Given the description of an element on the screen output the (x, y) to click on. 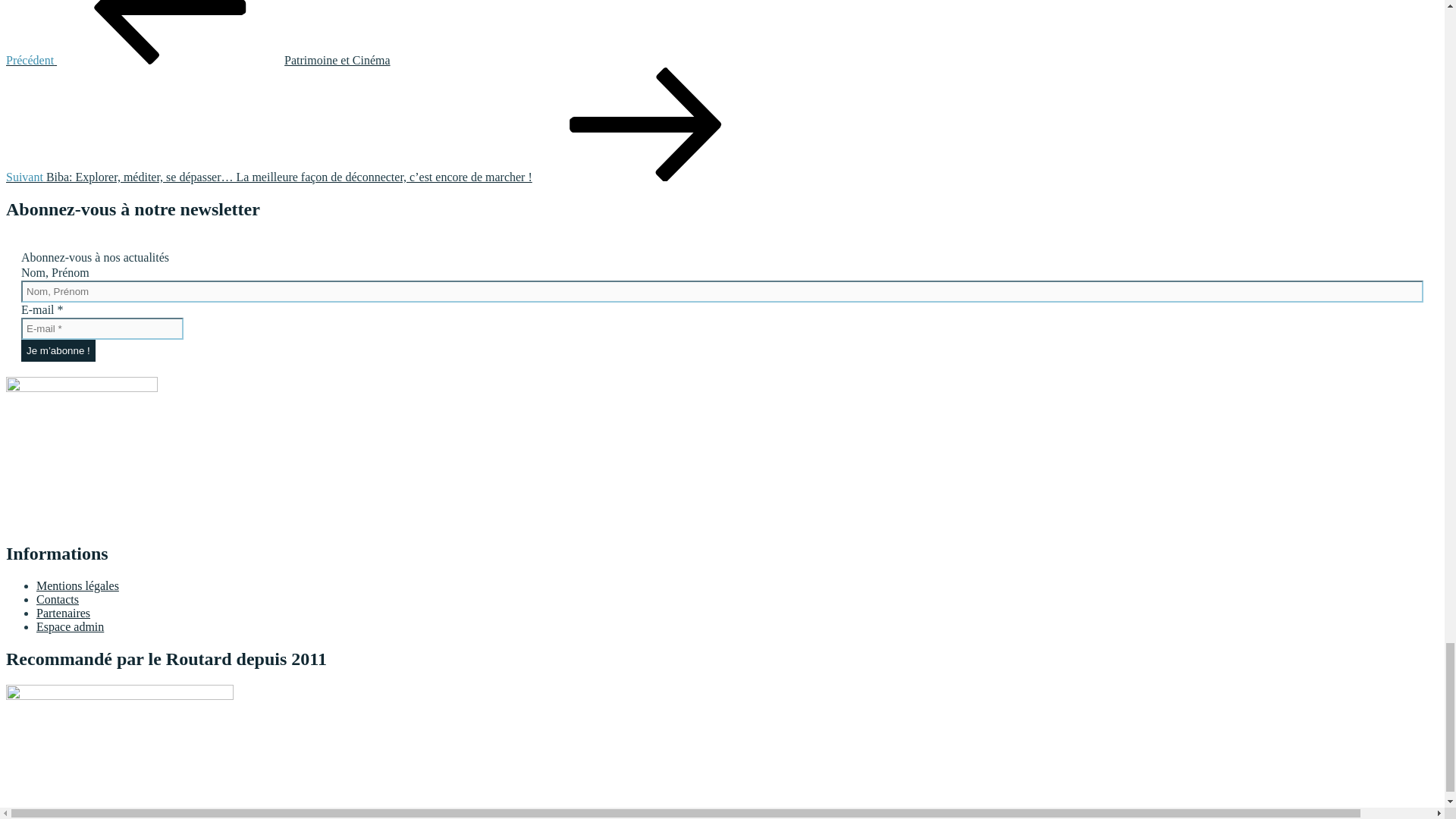
E-mail (102, 328)
Partenaires (63, 612)
Contacts (57, 599)
